Given the description of an element on the screen output the (x, y) to click on. 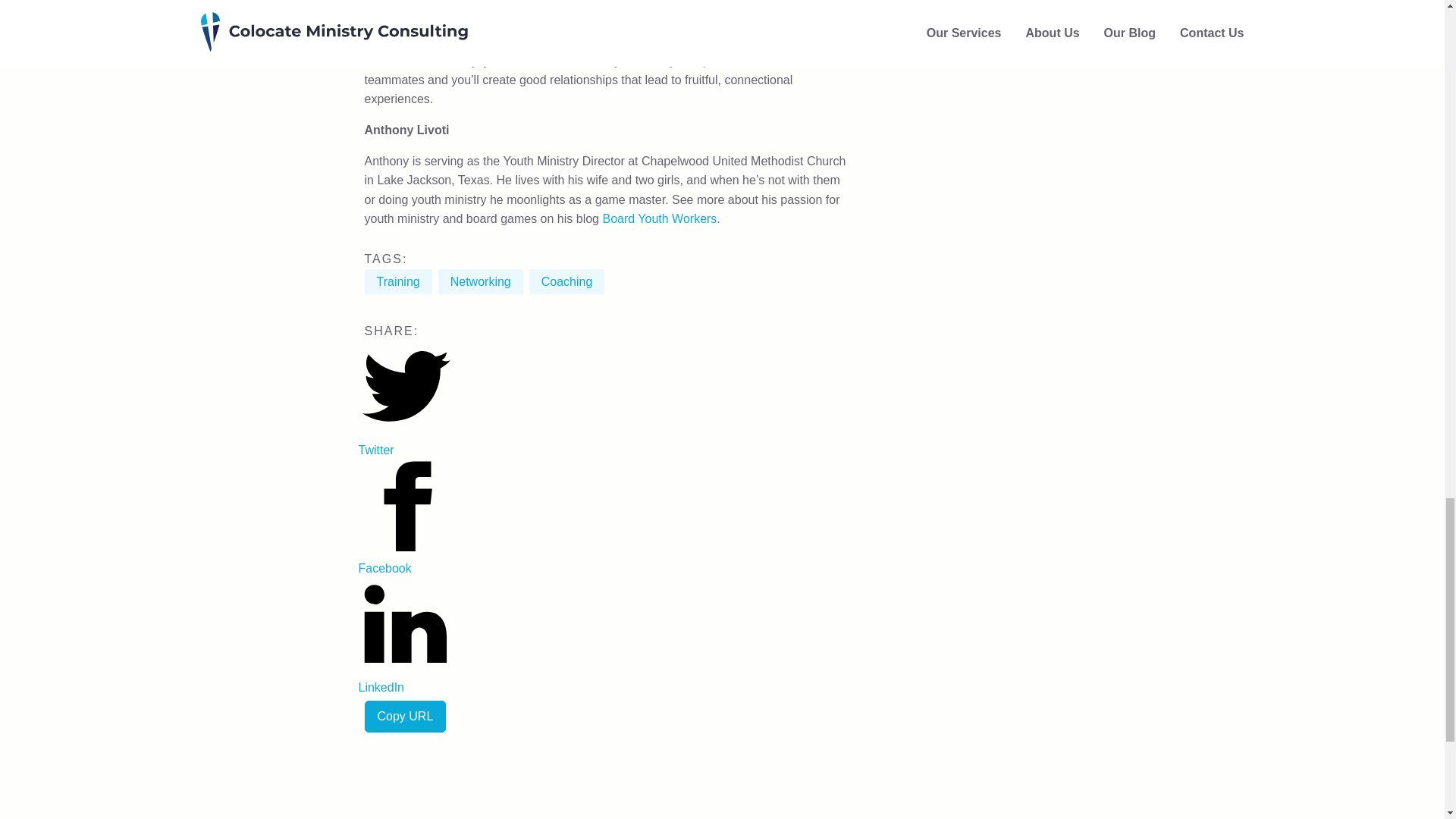
Training (397, 281)
Coaching (567, 281)
Copy URL (404, 716)
Board Youth Workers (659, 218)
Networking (480, 281)
